Given the description of an element on the screen output the (x, y) to click on. 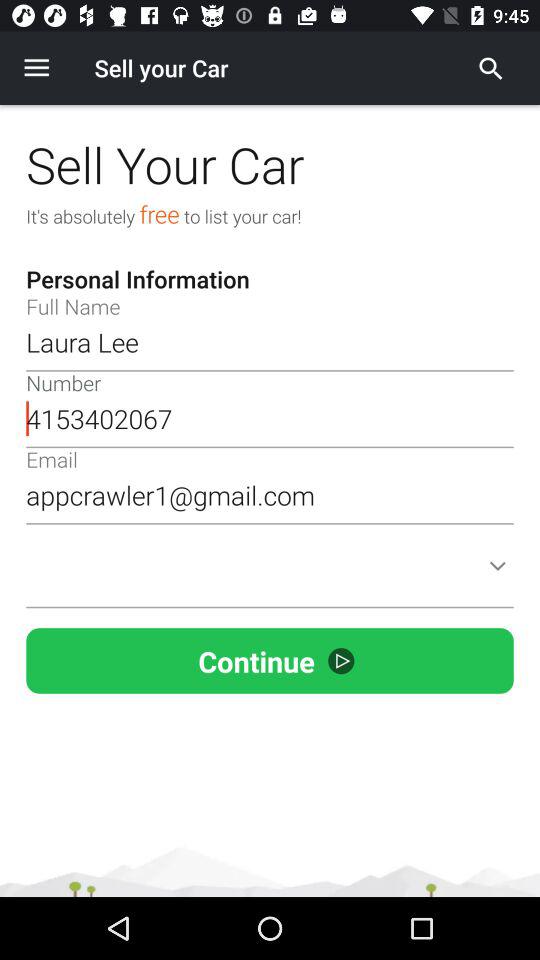
choose item to the right of the sell your car icon (491, 68)
